Given the description of an element on the screen output the (x, y) to click on. 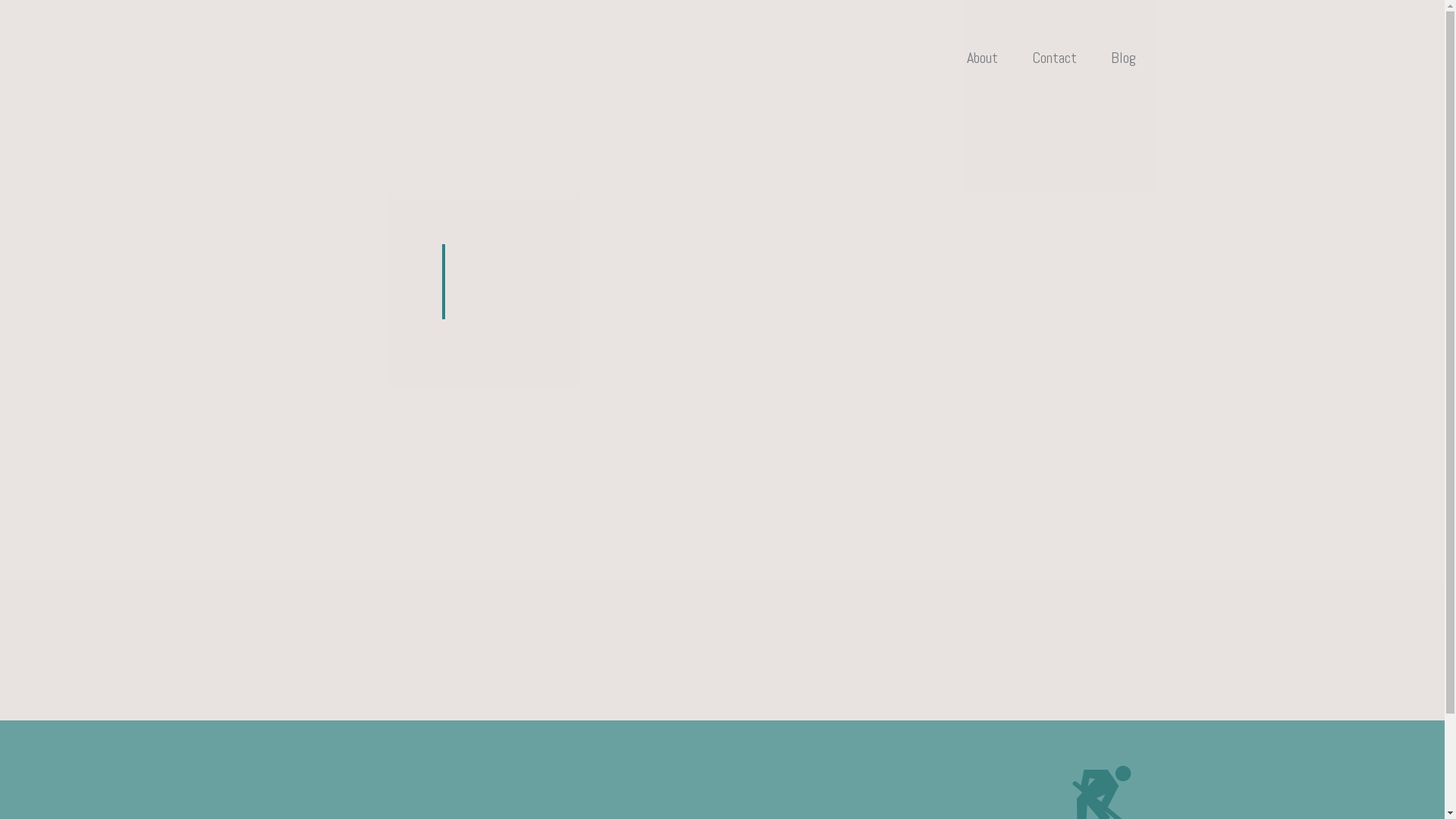
About Element type: text (981, 57)
Blog Element type: text (1122, 57)
Contact Element type: text (1053, 57)
